Given the description of an element on the screen output the (x, y) to click on. 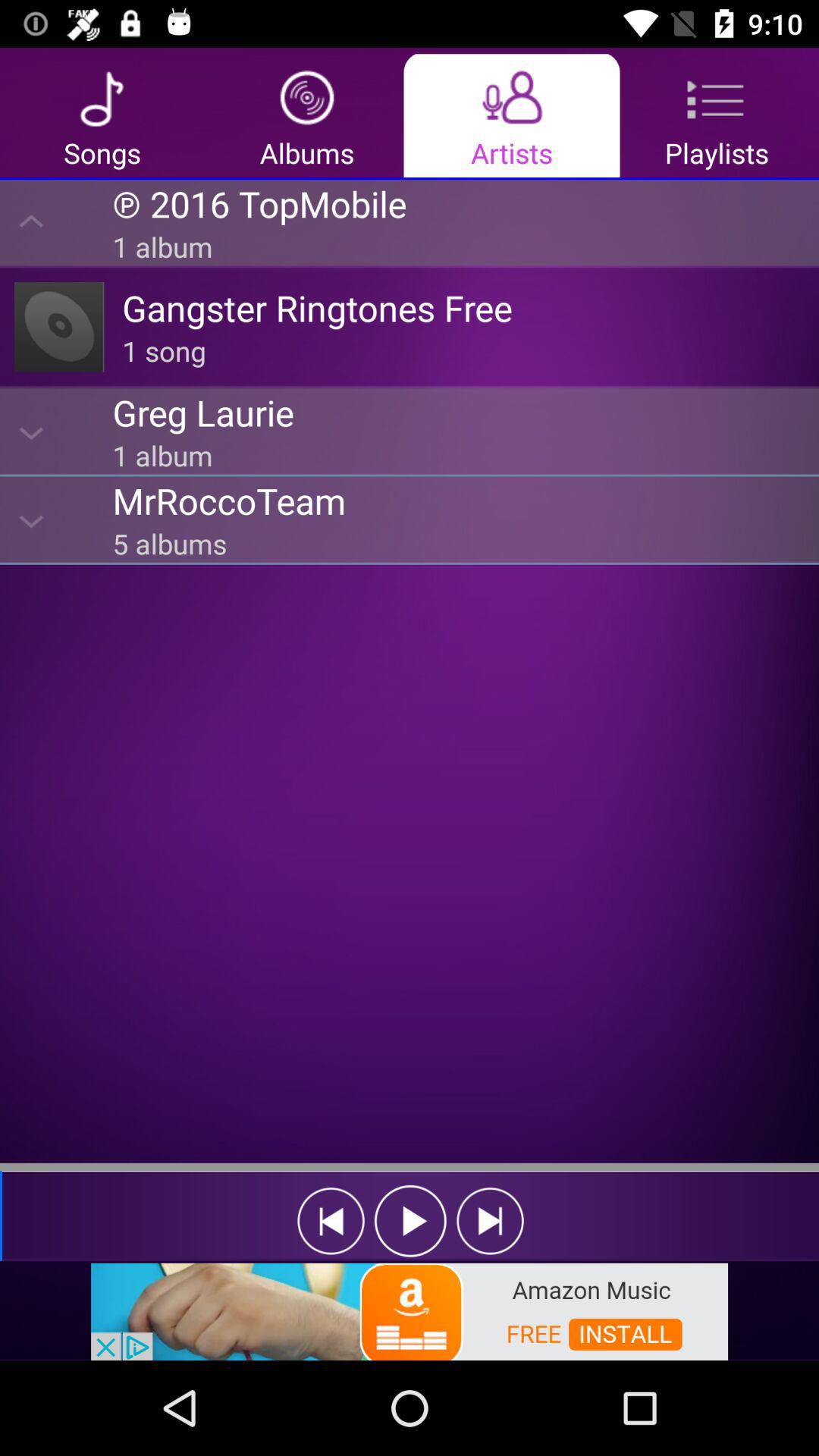
go to previous (330, 1220)
